Given the description of an element on the screen output the (x, y) to click on. 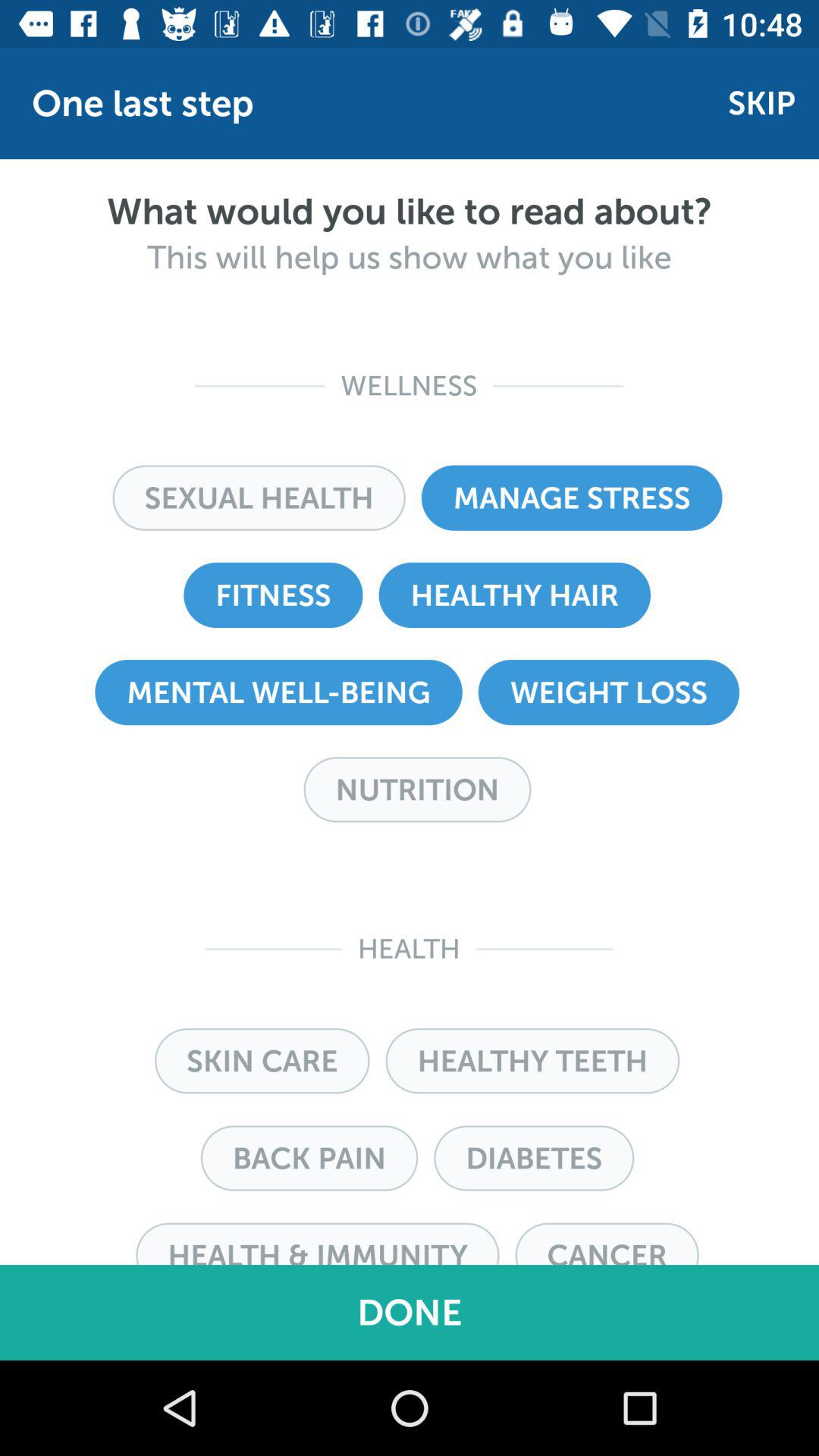
flip until done (409, 1312)
